Given the description of an element on the screen output the (x, y) to click on. 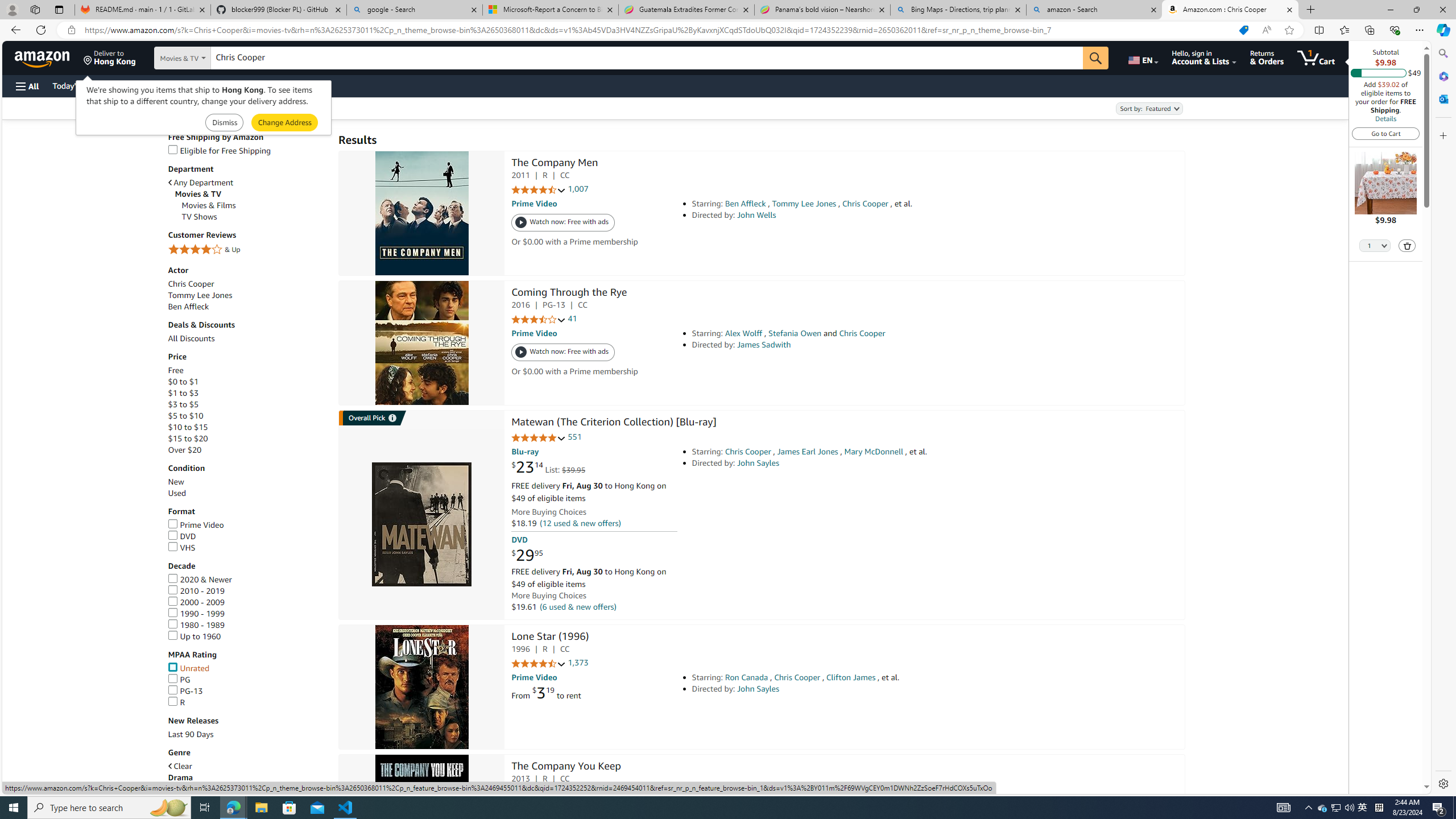
$1 to $3 (183, 393)
Ron Canada (746, 677)
Drama (180, 777)
Today's Deals (76, 85)
Delete (1407, 245)
Ben Affleck (188, 306)
James Earl Jones (807, 451)
Tommy Lee Jones (247, 295)
Mary McDonnell (873, 451)
Free (247, 370)
VHS (247, 547)
R (247, 702)
PG (178, 679)
